Given the description of an element on the screen output the (x, y) to click on. 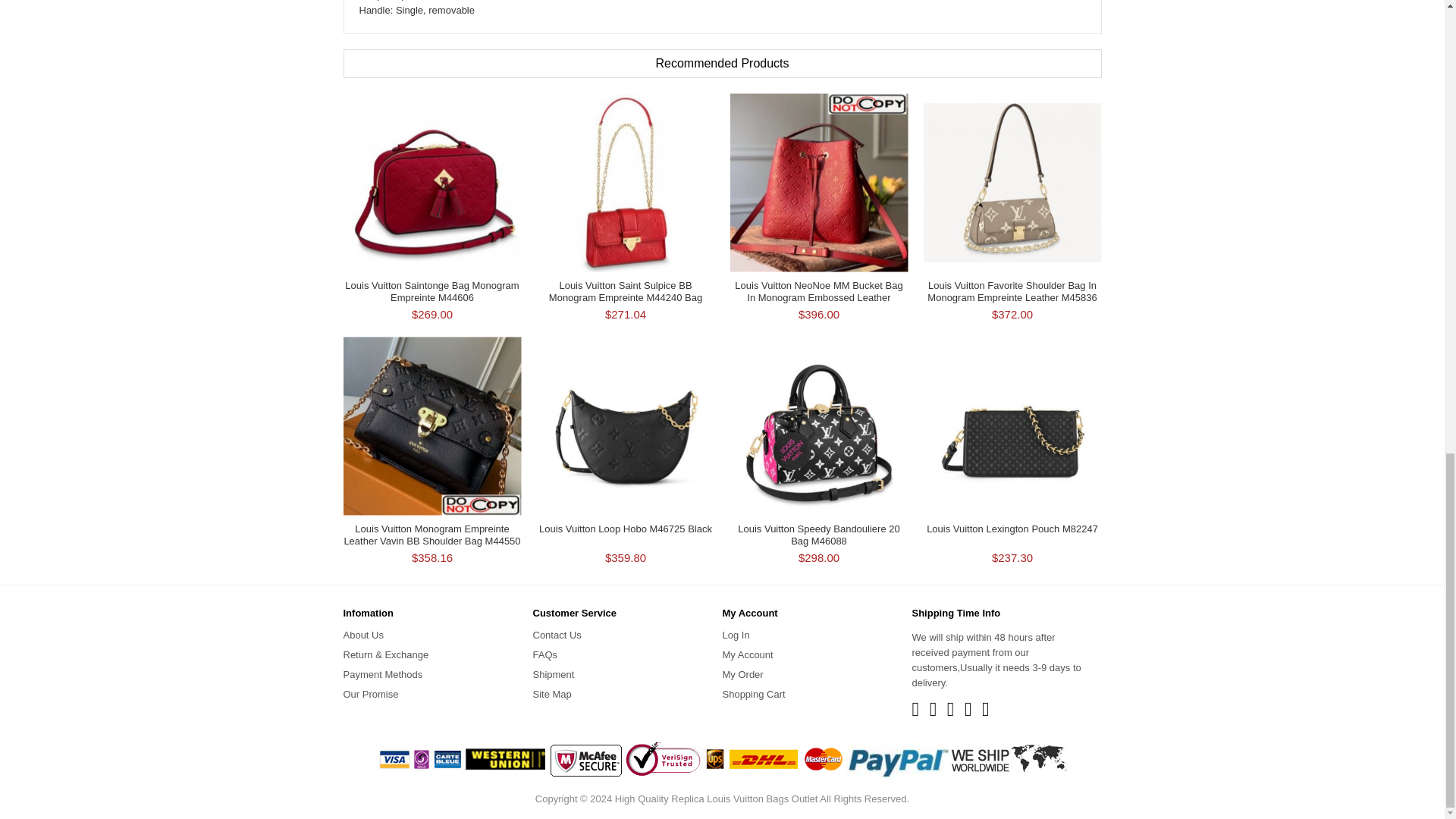
 Louis Vuitton Saintonge Bag Monogram Empreinte M44606  (431, 182)
Louis Vuitton Saintonge Bag Monogram Empreinte M44606 (431, 291)
